Given the description of an element on the screen output the (x, y) to click on. 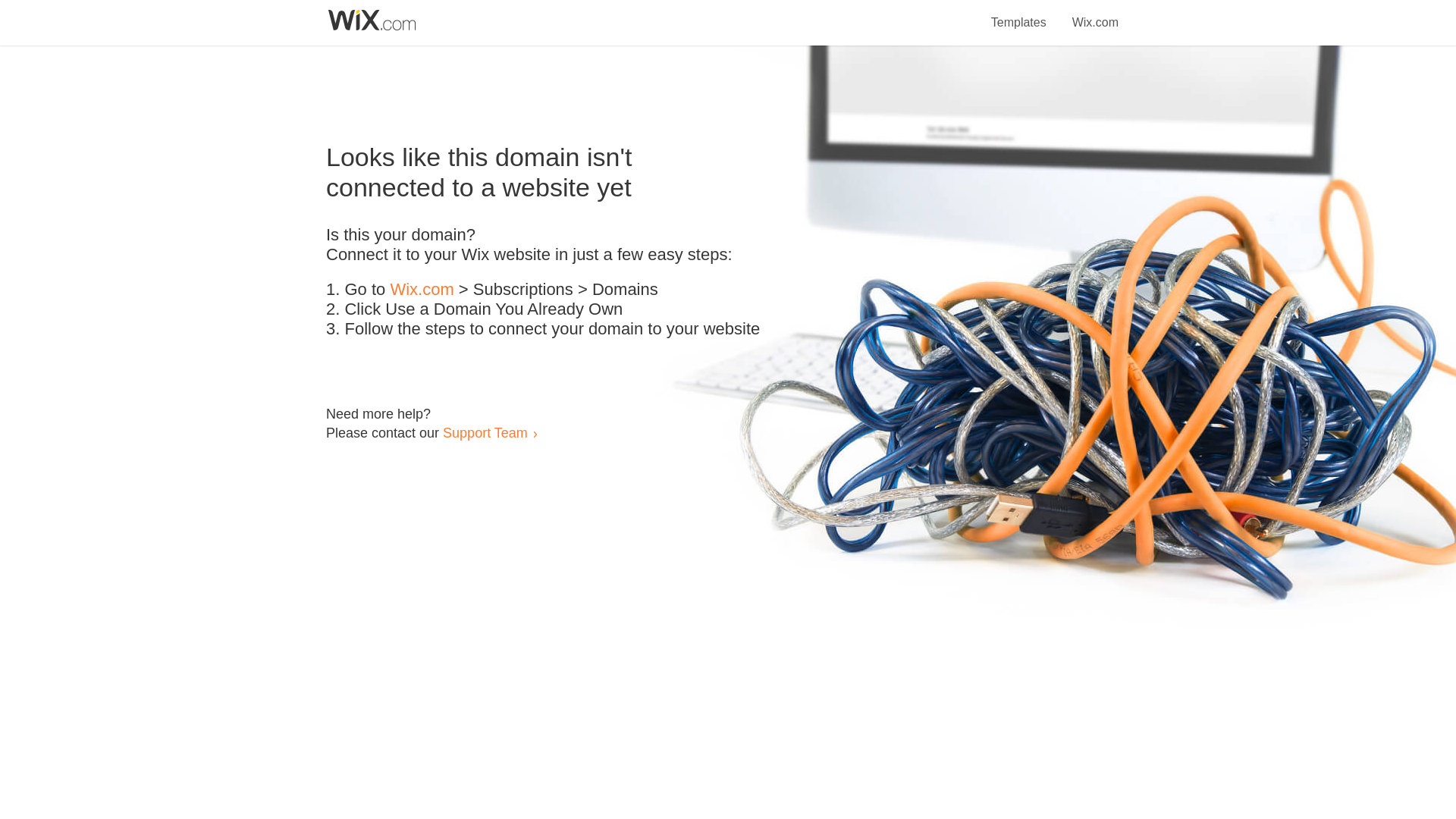
Templates (1018, 14)
Support Team (484, 432)
Wix.com (421, 289)
Wix.com (1095, 14)
